Given the description of an element on the screen output the (x, y) to click on. 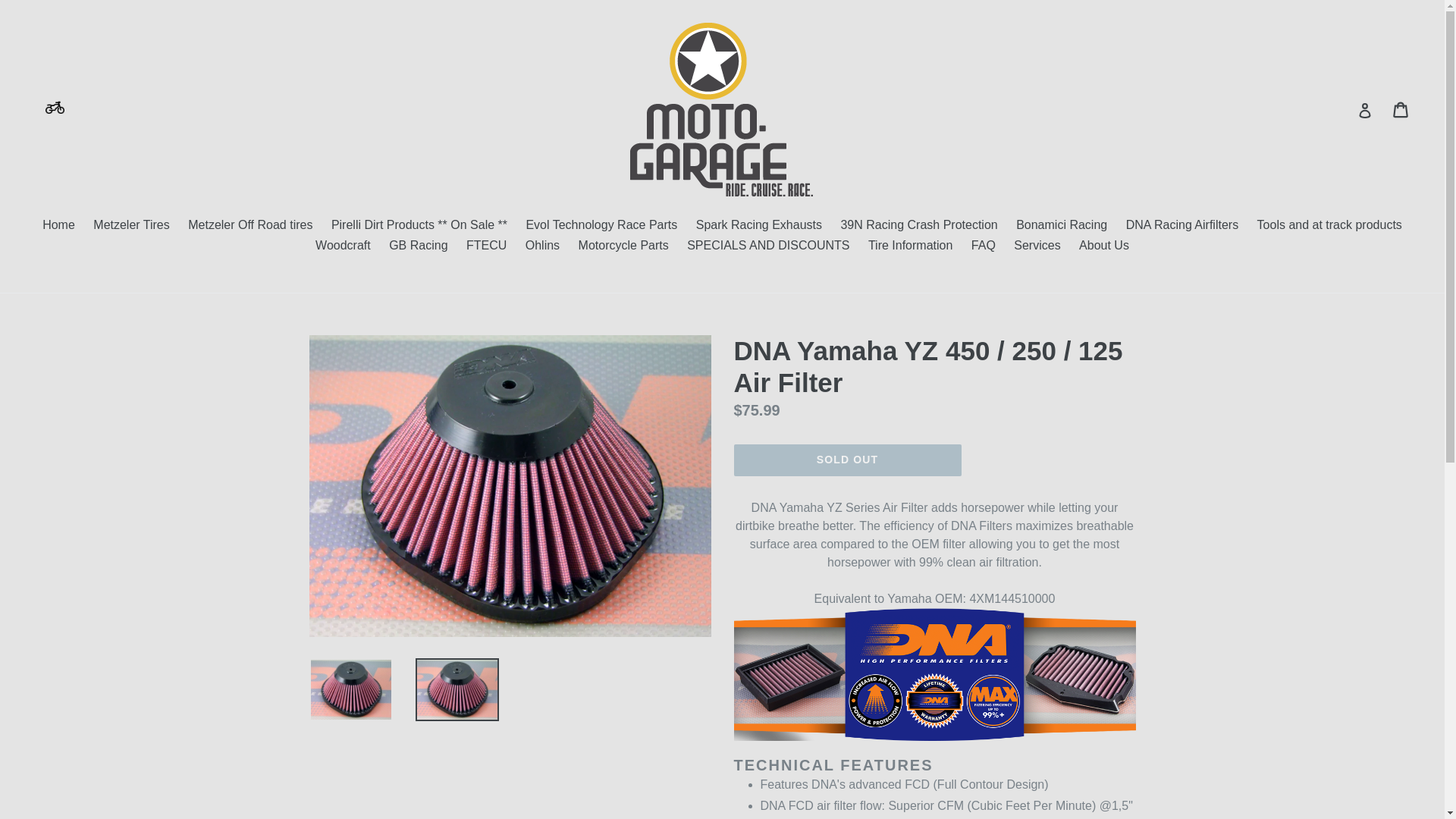
Metzeler Off Road tires (250, 226)
Spark Racing Exhausts (758, 226)
DNA Racing Airfilters (1182, 226)
Metzeler Tires (130, 226)
Woodcraft (342, 246)
39N Racing Crash Protection (918, 226)
Bonamici Racing (1062, 226)
Home (58, 226)
Evol Technology Race Parts (601, 226)
Tools and at track products (1329, 226)
